Given the description of an element on the screen output the (x, y) to click on. 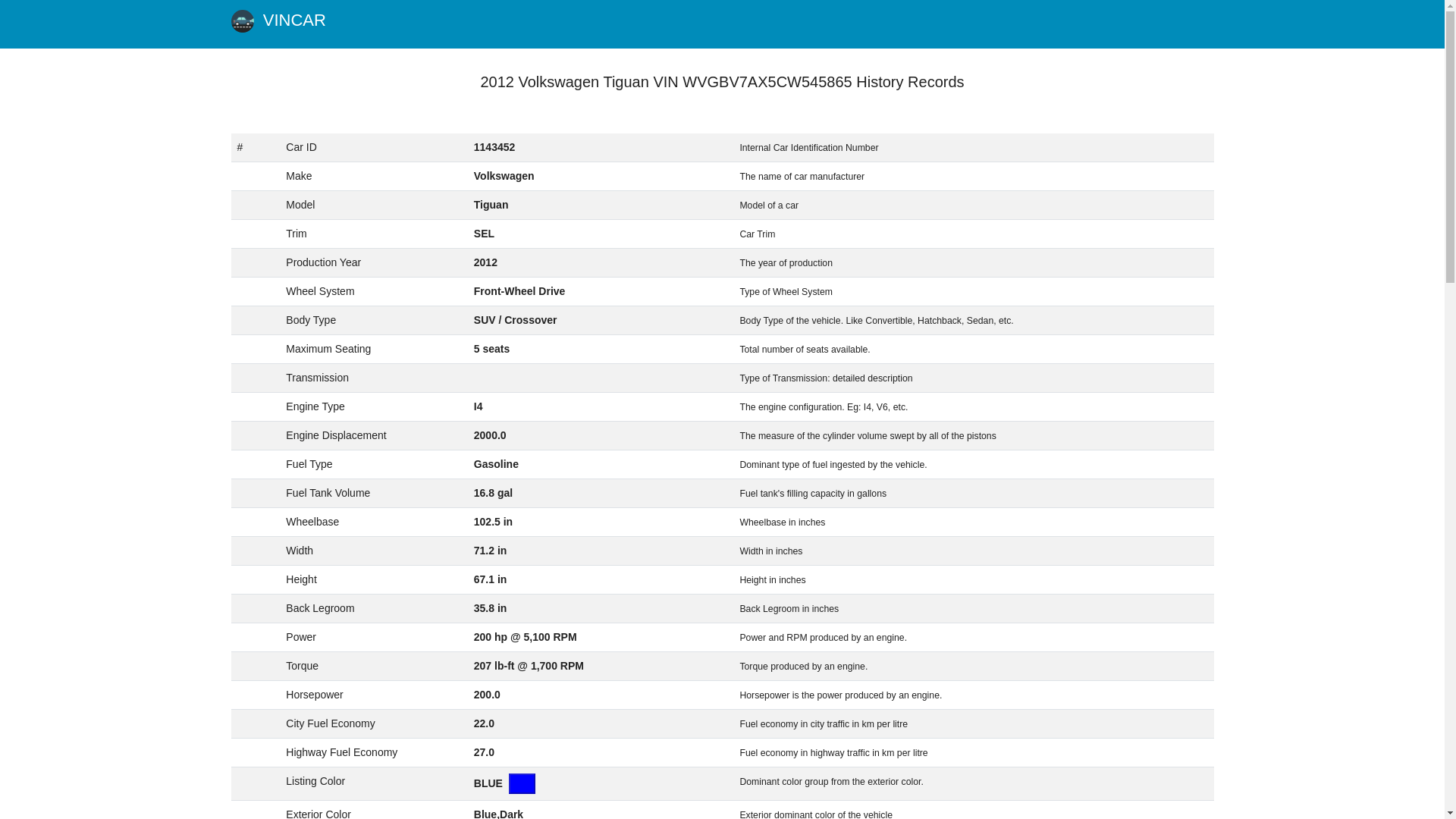
VinCar.pro (277, 23)
VinCar.pro (241, 20)
  VINCAR (277, 23)
